Given the description of an element on the screen output the (x, y) to click on. 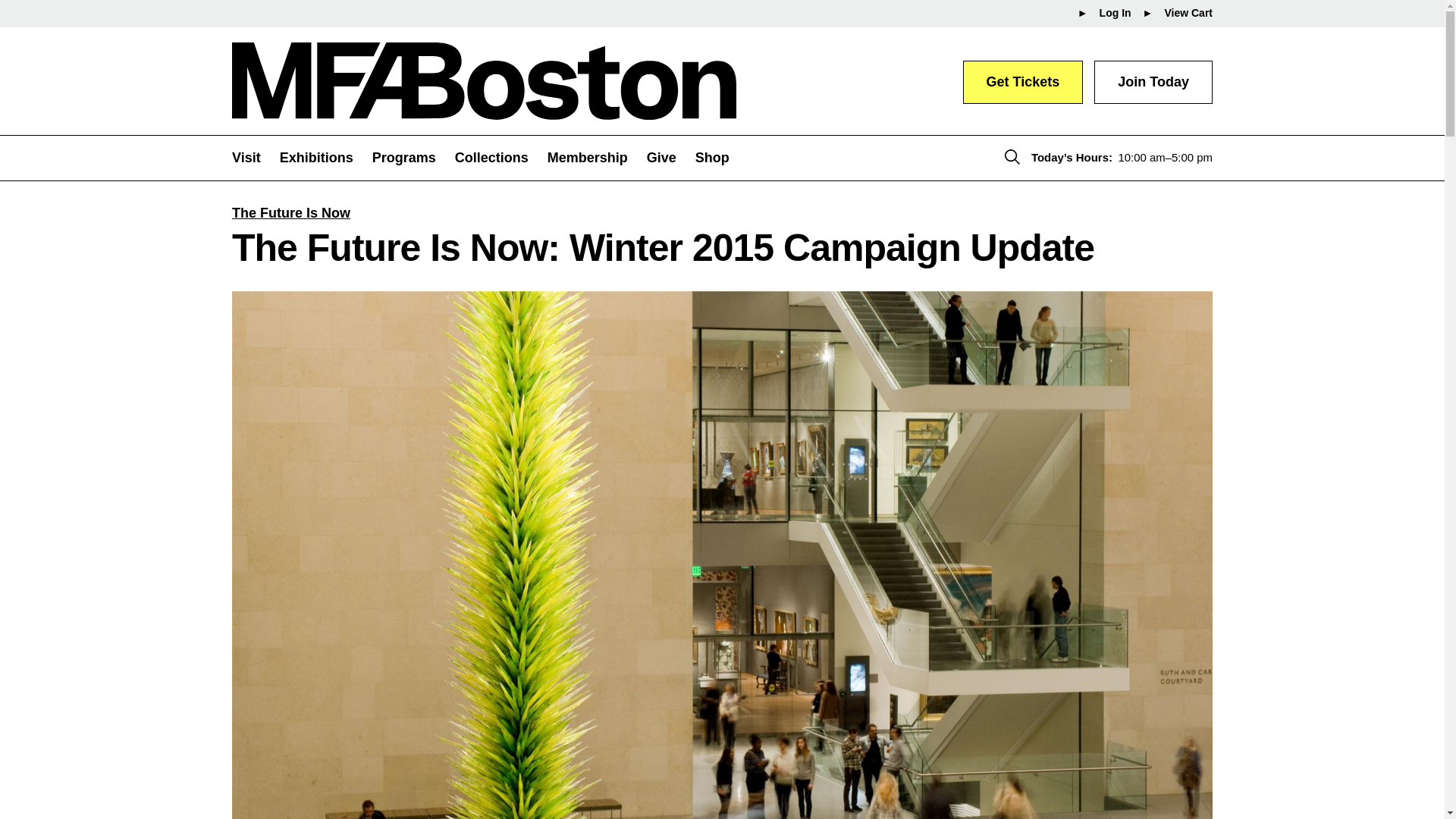
Home (483, 81)
Expand menu Visit (255, 157)
Expand menu Exhibitions (325, 157)
Search (1012, 156)
Expand menu Programs (413, 157)
